Given the description of an element on the screen output the (x, y) to click on. 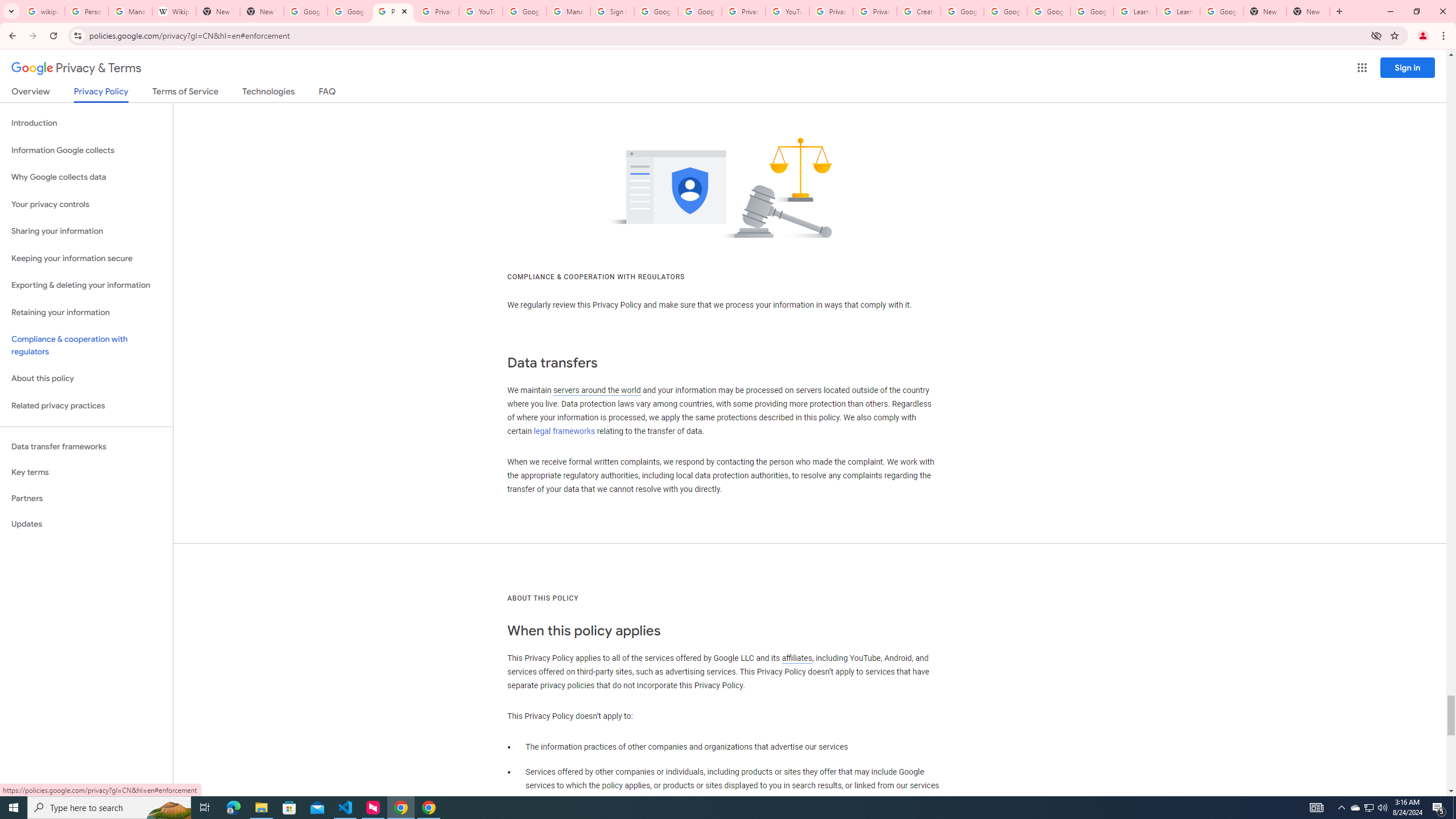
Google Account Help (1091, 11)
Partners (86, 497)
Key terms (86, 472)
Updates (86, 524)
About this policy (86, 379)
Information Google collects (86, 150)
Google Account Help (1048, 11)
Keeping your information secure (86, 258)
Privacy Policy (100, 94)
